Given the description of an element on the screen output the (x, y) to click on. 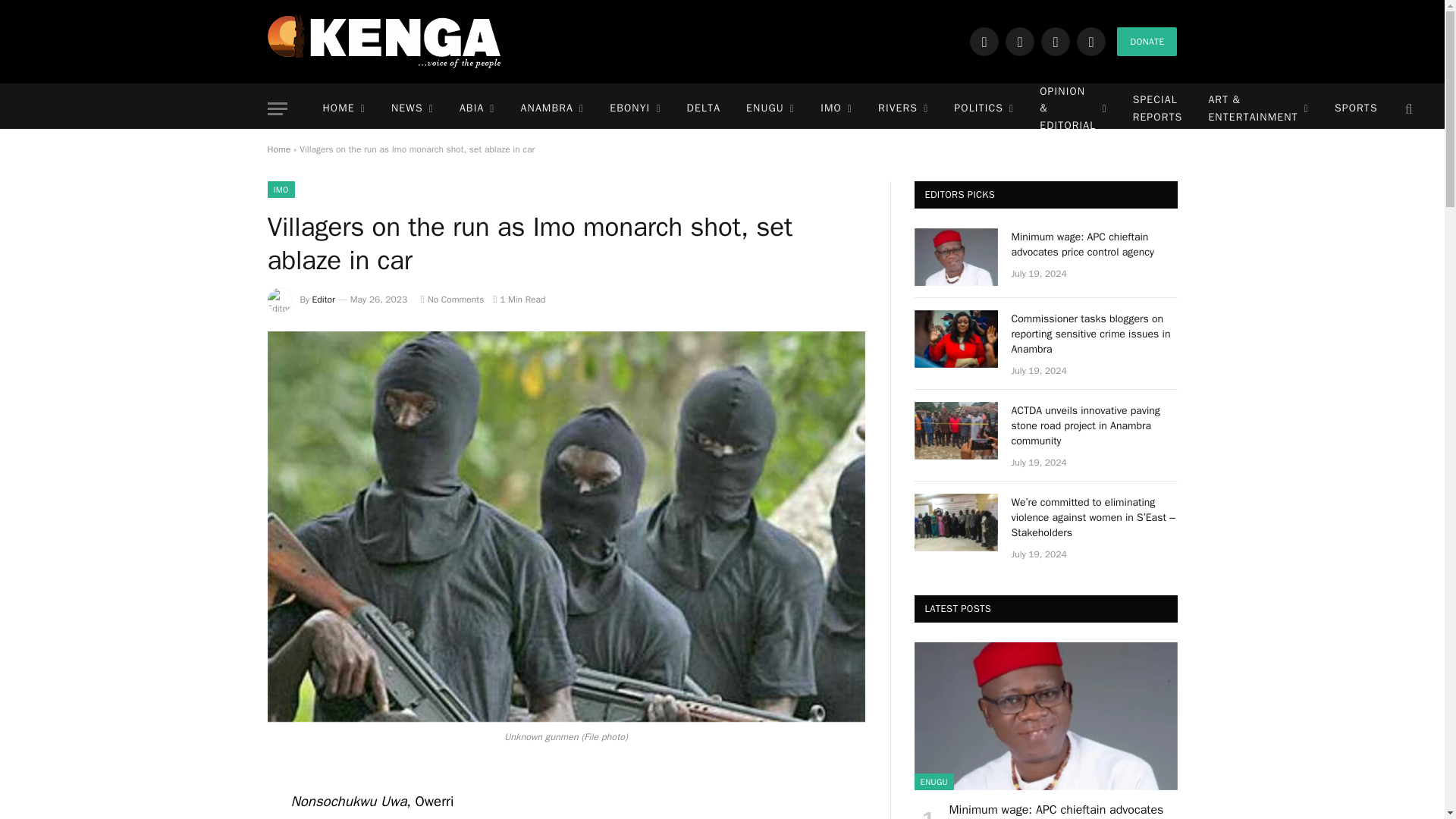
HOME (342, 108)
Instagram (1055, 41)
Ikenga Online (383, 41)
Facebook (983, 41)
Twitter (1019, 41)
YouTube (1091, 41)
DONATE (1146, 41)
NEWS (412, 108)
